Given the description of an element on the screen output the (x, y) to click on. 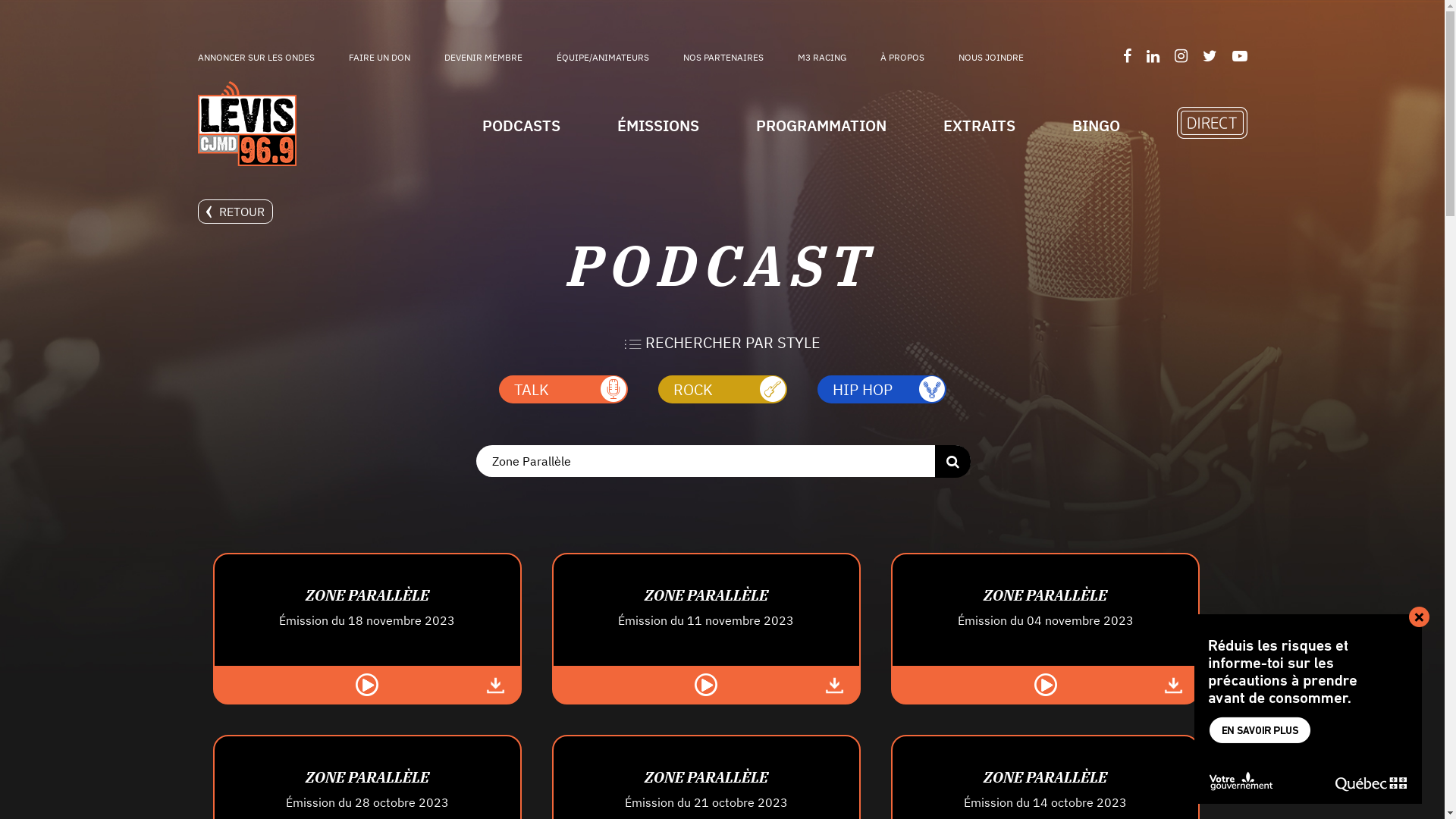
MSSS - Campagne Surdoses - 1018061 Element type: hover (1307, 708)
Jouer le podcast Element type: hover (1045, 684)
DEVENIR MEMBRE Element type: text (483, 56)
TALK Element type: text (562, 389)
En Direct Element type: hover (1211, 122)
PODCASTS Element type: text (521, 125)
PROGRAMMATION Element type: text (820, 125)
NOUS JOINDRE Element type: text (990, 56)
ANNONCER SUR LES ONDES Element type: text (255, 56)
Suivez-nous sur Instagram Element type: hover (1179, 55)
+ Element type: text (1418, 616)
M3 RACING Element type: text (821, 56)
NOS PARTENAIRES Element type: text (722, 56)
Suivez-nous sur YouTube Element type: hover (1238, 55)
Logo 96.9FM Element type: hover (246, 123)
Suivez-nous sur LinkedIn Element type: hover (1152, 55)
Jouer le podcast Element type: hover (705, 684)
HIP HOP Element type: text (881, 389)
Suivez-nous sur Facebook Element type: hover (1126, 55)
ROCK Element type: text (722, 389)
BINGO Element type: text (1096, 125)
FAIRE UN DON Element type: text (379, 56)
EXTRAITS Element type: text (979, 125)
Logo 96.9FM Element type: hover (246, 125)
En Direct Element type: hover (1211, 132)
Rechercher Element type: hover (951, 461)
Suivez-nous sur Twitter Element type: hover (1209, 55)
RETOUR Element type: text (234, 211)
Jouer le podcast Element type: hover (366, 684)
